Given the description of an element on the screen output the (x, y) to click on. 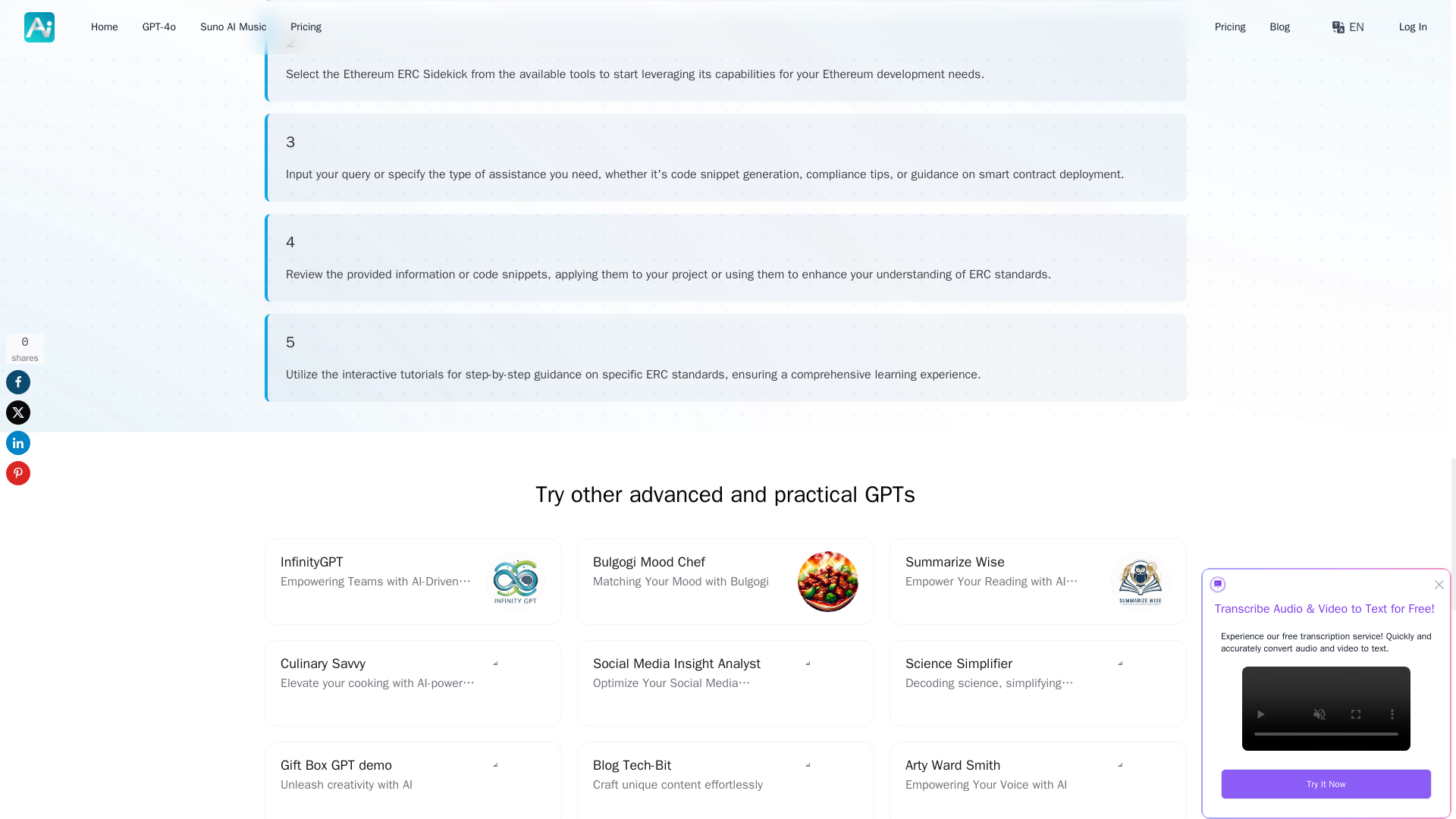
Gift Box GPT demo (413, 780)
Arty Ward Smith (1037, 780)
Science Simplifier (1037, 682)
Blog Tech-Bit (725, 780)
InfinityGPT (413, 581)
Bulgogi Mood Chef (413, 581)
Social Media Insight Analyst (1037, 682)
